Given the description of an element on the screen output the (x, y) to click on. 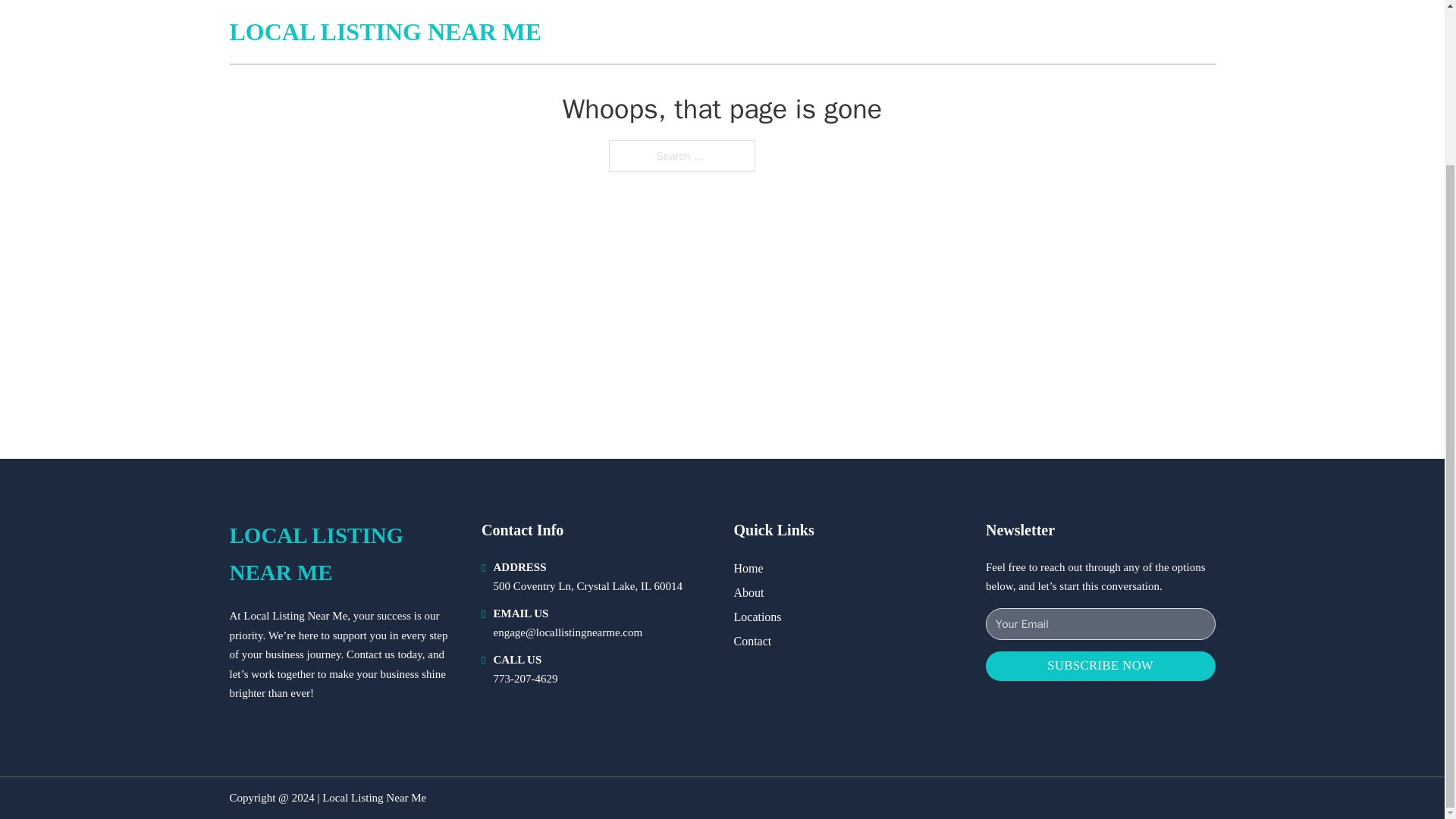
773-207-4629 (525, 678)
Locations (757, 616)
About (748, 592)
Home (747, 567)
SUBSCRIBE NOW (1100, 665)
LOCAL LISTING NEAR ME (343, 554)
Contact (752, 640)
